Given the description of an element on the screen output the (x, y) to click on. 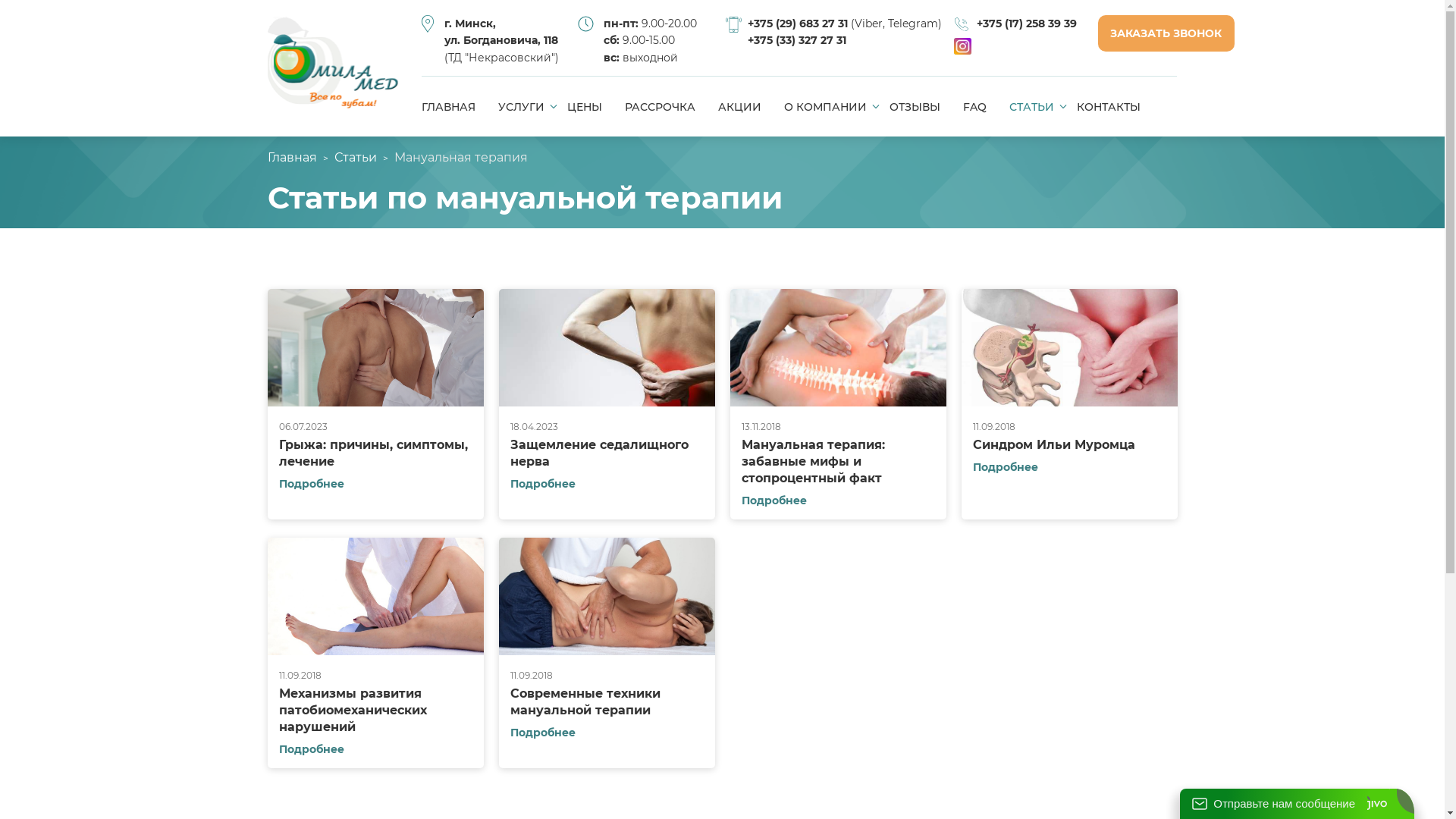
+375 (17) 258 39 39 Element type: text (1026, 23)
FAQ Element type: text (974, 106)
+375 (33) 327 27 31 Element type: text (796, 39)
+375 (29) 683 27 31 (Viber, Telegram) Element type: text (844, 23)
